Given the description of an element on the screen output the (x, y) to click on. 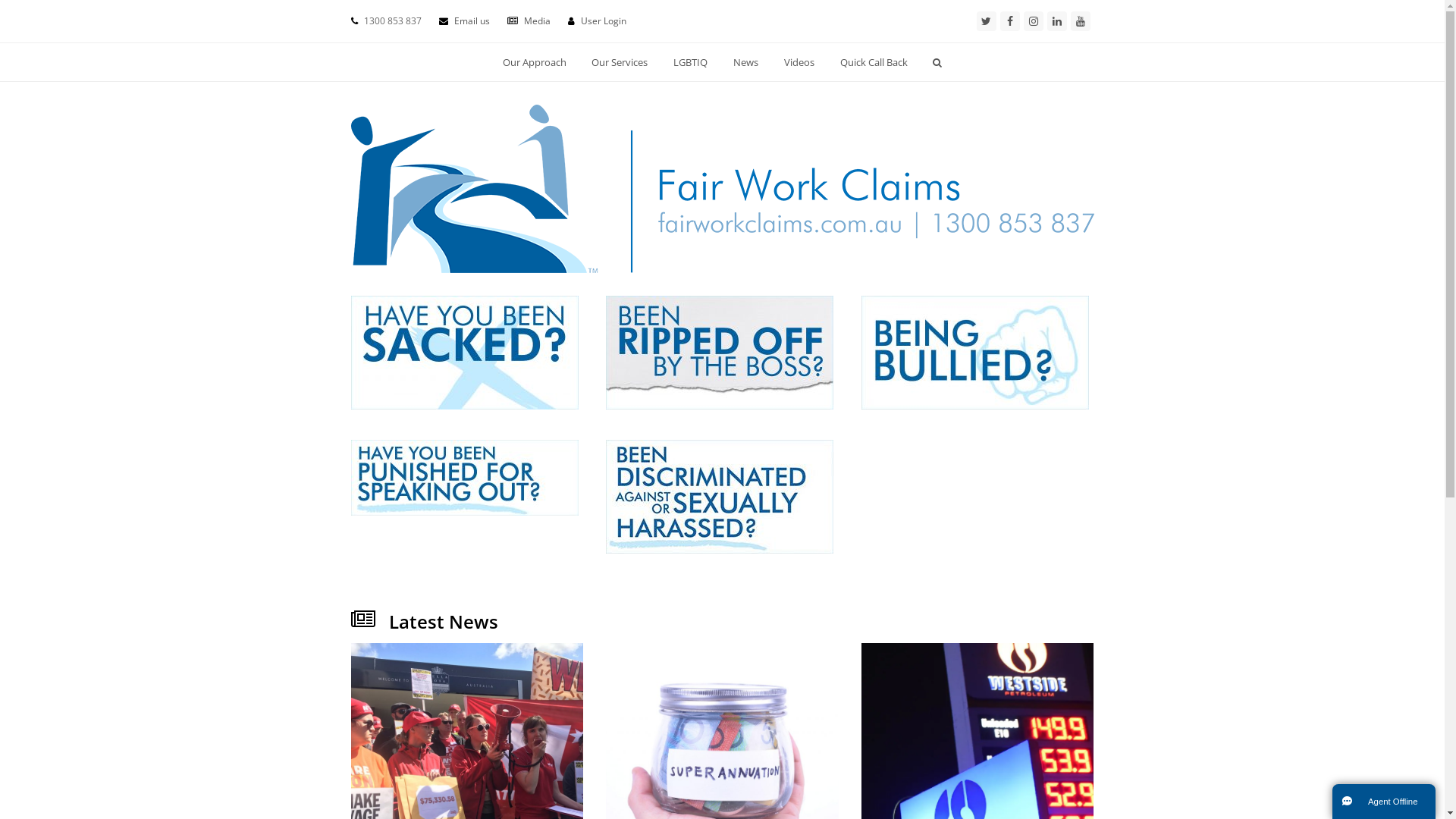
Youtube Element type: text (1080, 21)
LGBTIQ Element type: text (690, 62)
Email us Element type: text (471, 20)
Instagram Element type: text (1033, 21)
Videos Element type: text (798, 62)
Twitter Element type: text (986, 21)
Our Approach Element type: text (533, 62)
Quick Call Back Element type: text (873, 62)
LinkedIn Element type: text (1056, 21)
Media Element type: text (536, 20)
User Login Element type: text (603, 20)
Facebook Element type: text (1009, 21)
Our Services Element type: text (619, 62)
News Element type: text (745, 62)
